Given the description of an element on the screen output the (x, y) to click on. 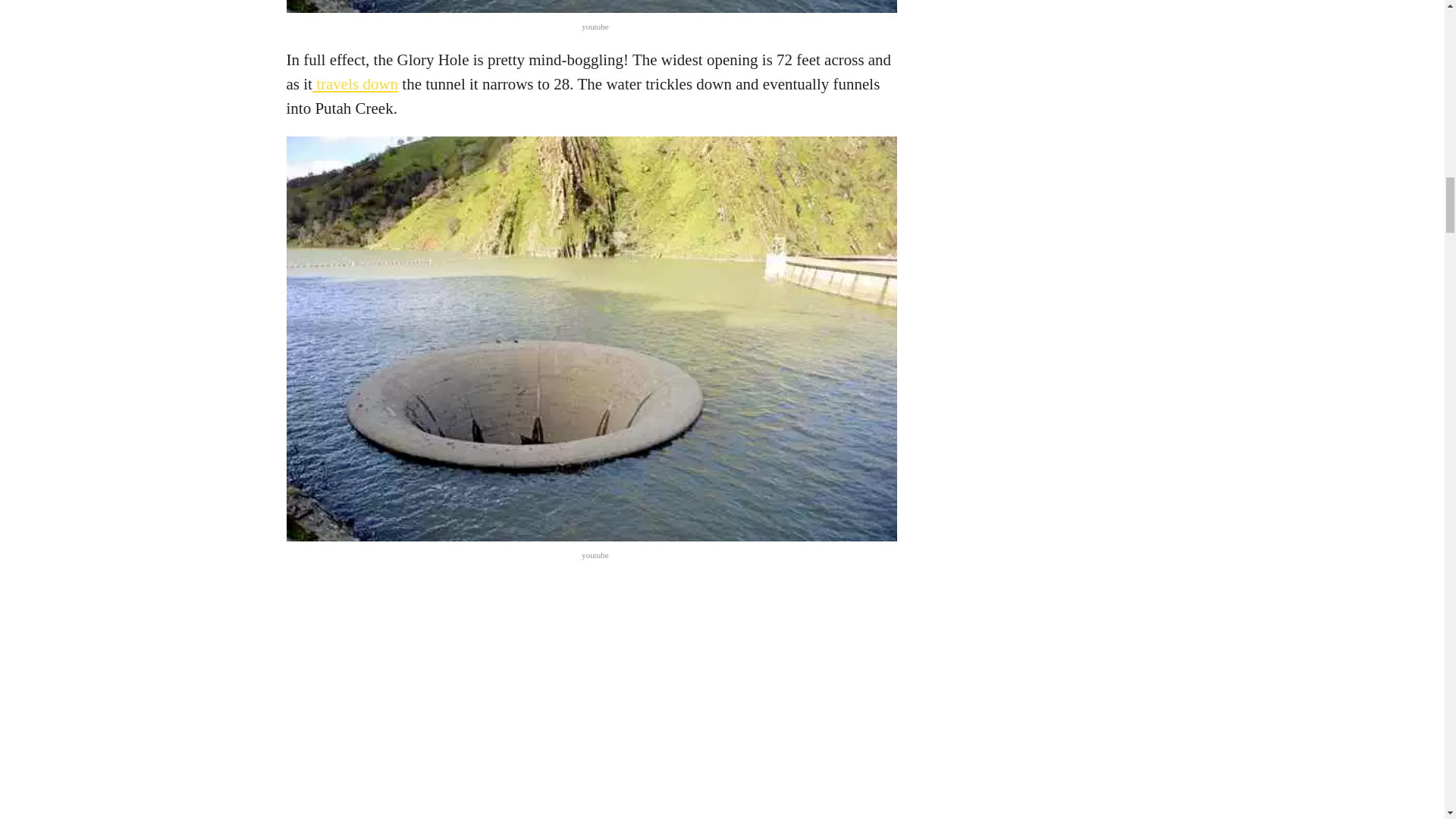
youtube (594, 26)
travels down (355, 84)
